Given the description of an element on the screen output the (x, y) to click on. 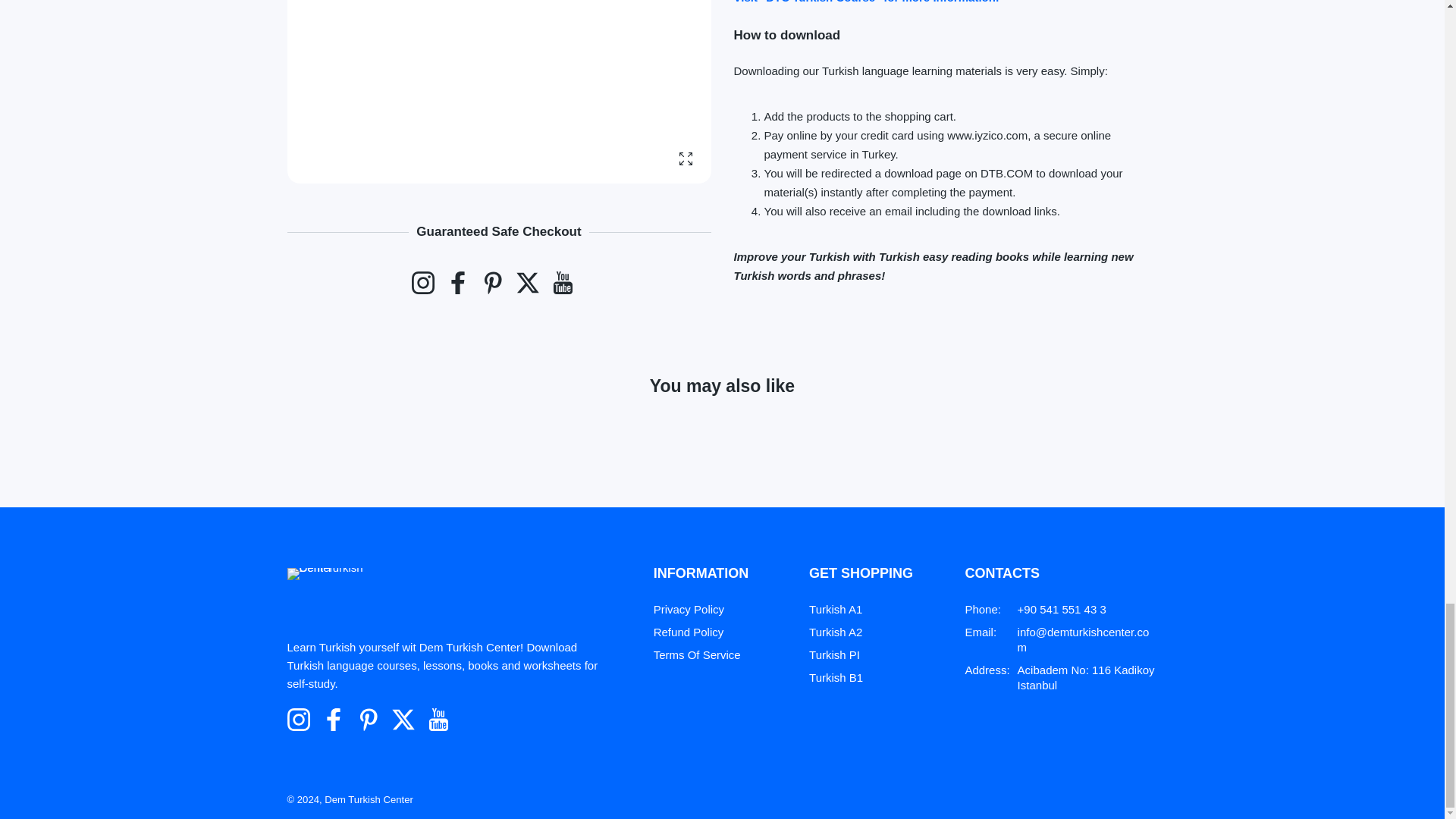
turkish language courses (865, 2)
Dem Turkish Center  (341, 595)
You may also like (722, 403)
